Given the description of an element on the screen output the (x, y) to click on. 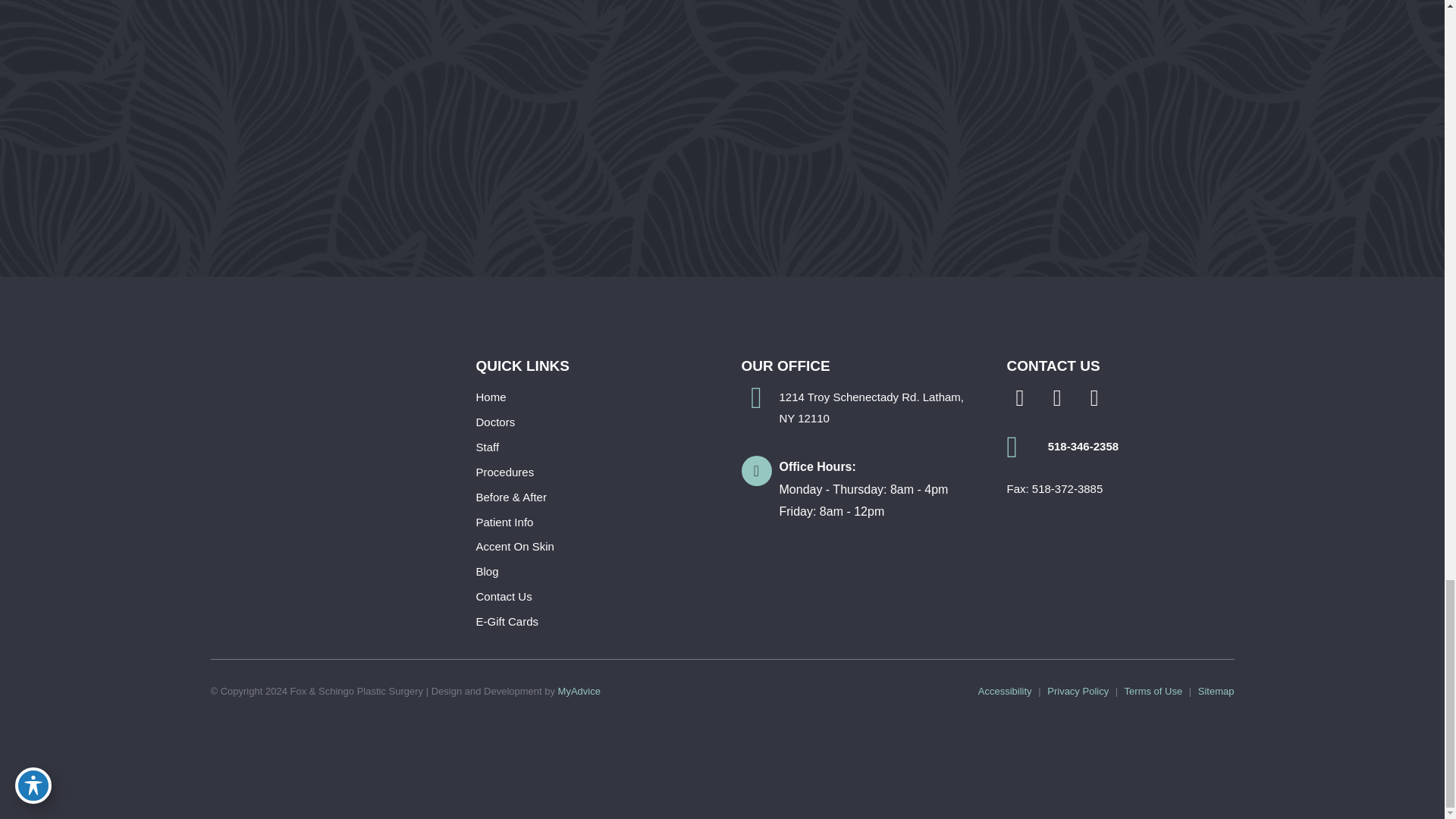
Map Location (977, 73)
